Given the description of an element on the screen output the (x, y) to click on. 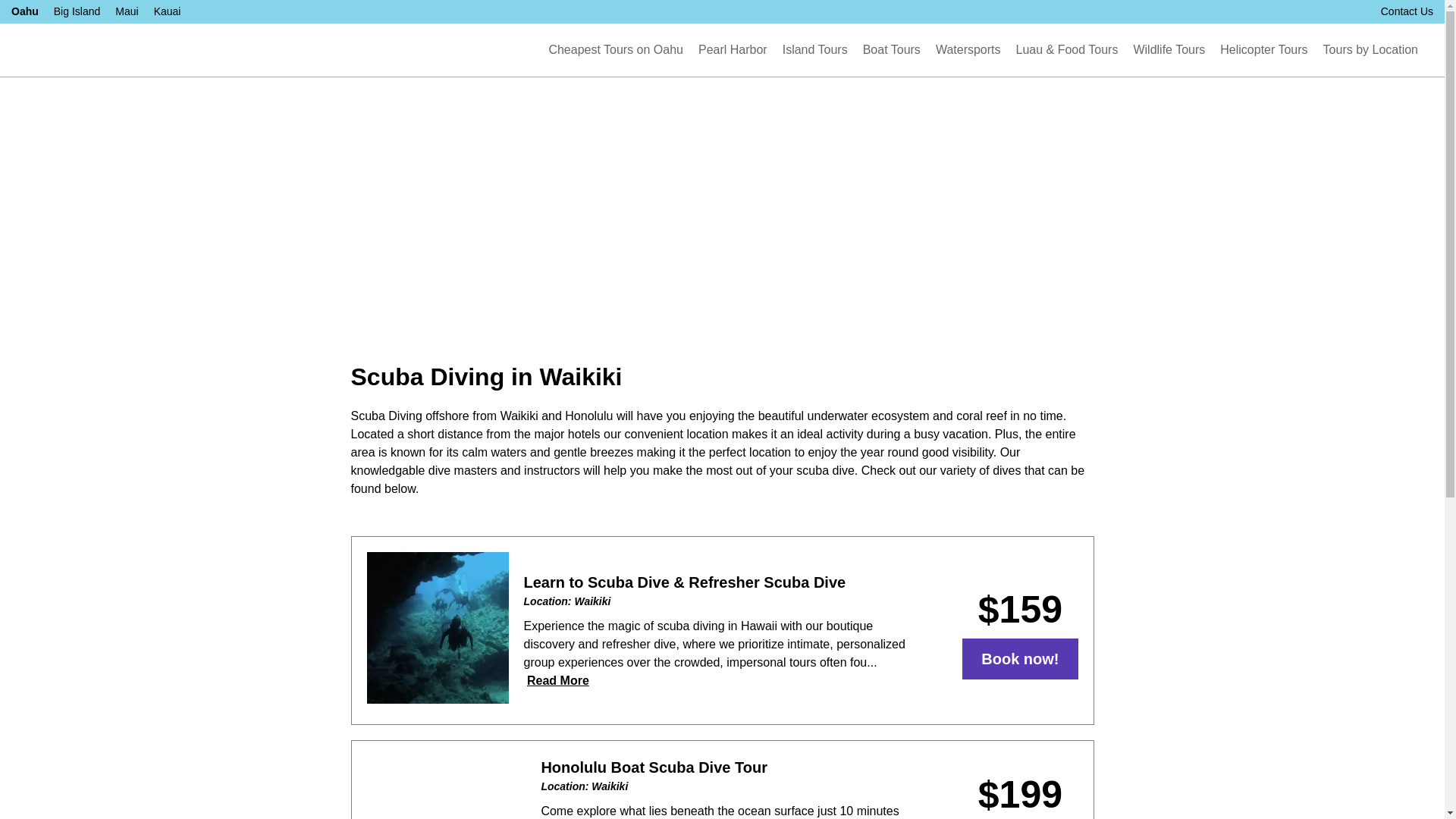
Oahu (25, 11)
Island Tours (815, 49)
Maui (126, 11)
Watersports (968, 49)
Kauai (167, 11)
Big Island (76, 11)
Pearl Harbor (732, 49)
Contact Us (1406, 11)
Cheapest Tours on Oahu (615, 49)
Boat Tours (891, 49)
